Given the description of an element on the screen output the (x, y) to click on. 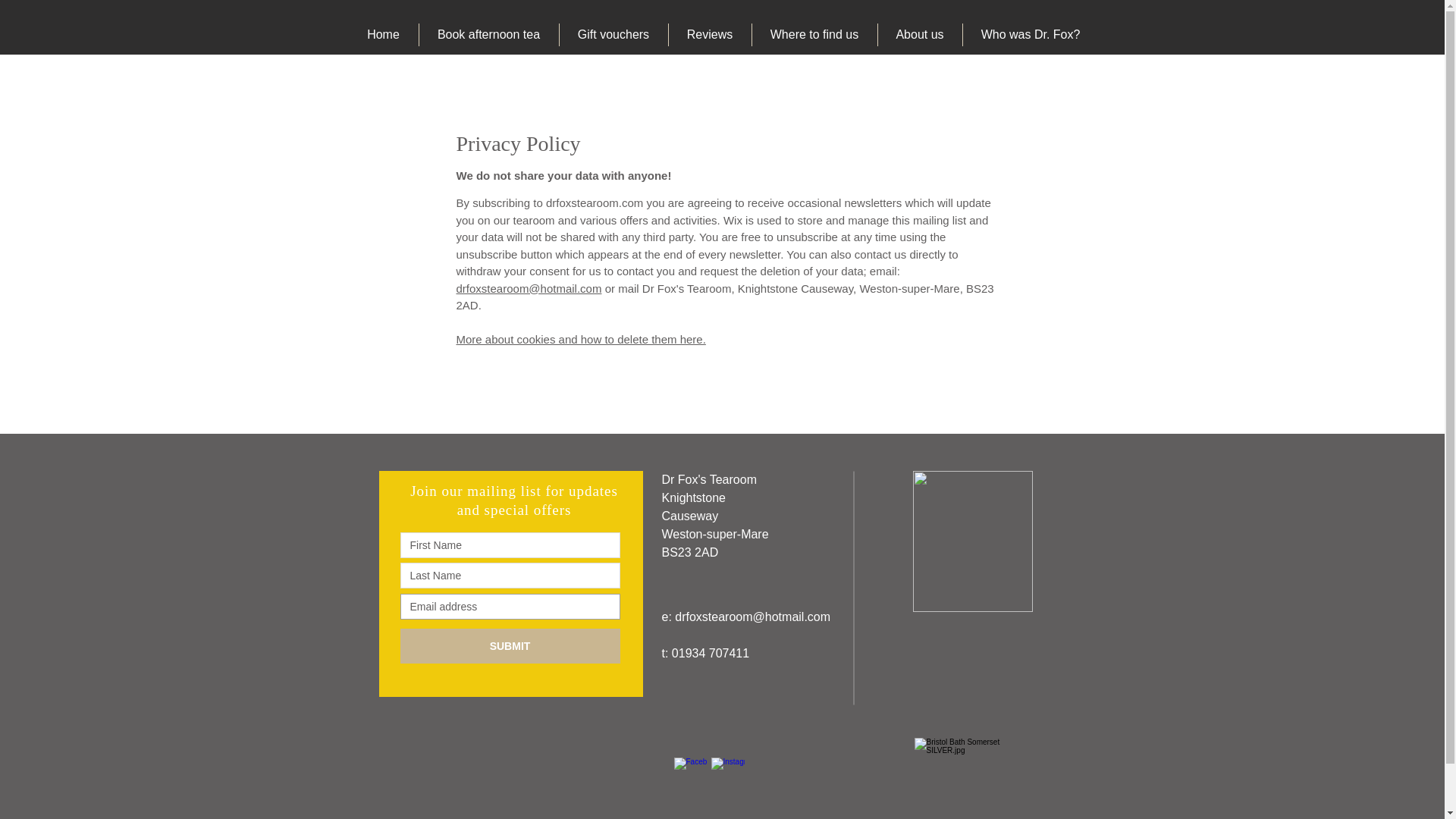
Gift vouchers (611, 34)
About us (918, 34)
Who was Dr. Fox? (1028, 34)
More about cookies and how to delete them here. (581, 338)
Home (384, 34)
Reviews (708, 34)
Book afternoon tea (489, 34)
SUBMIT (510, 645)
Where to find us (813, 34)
